Given the description of an element on the screen output the (x, y) to click on. 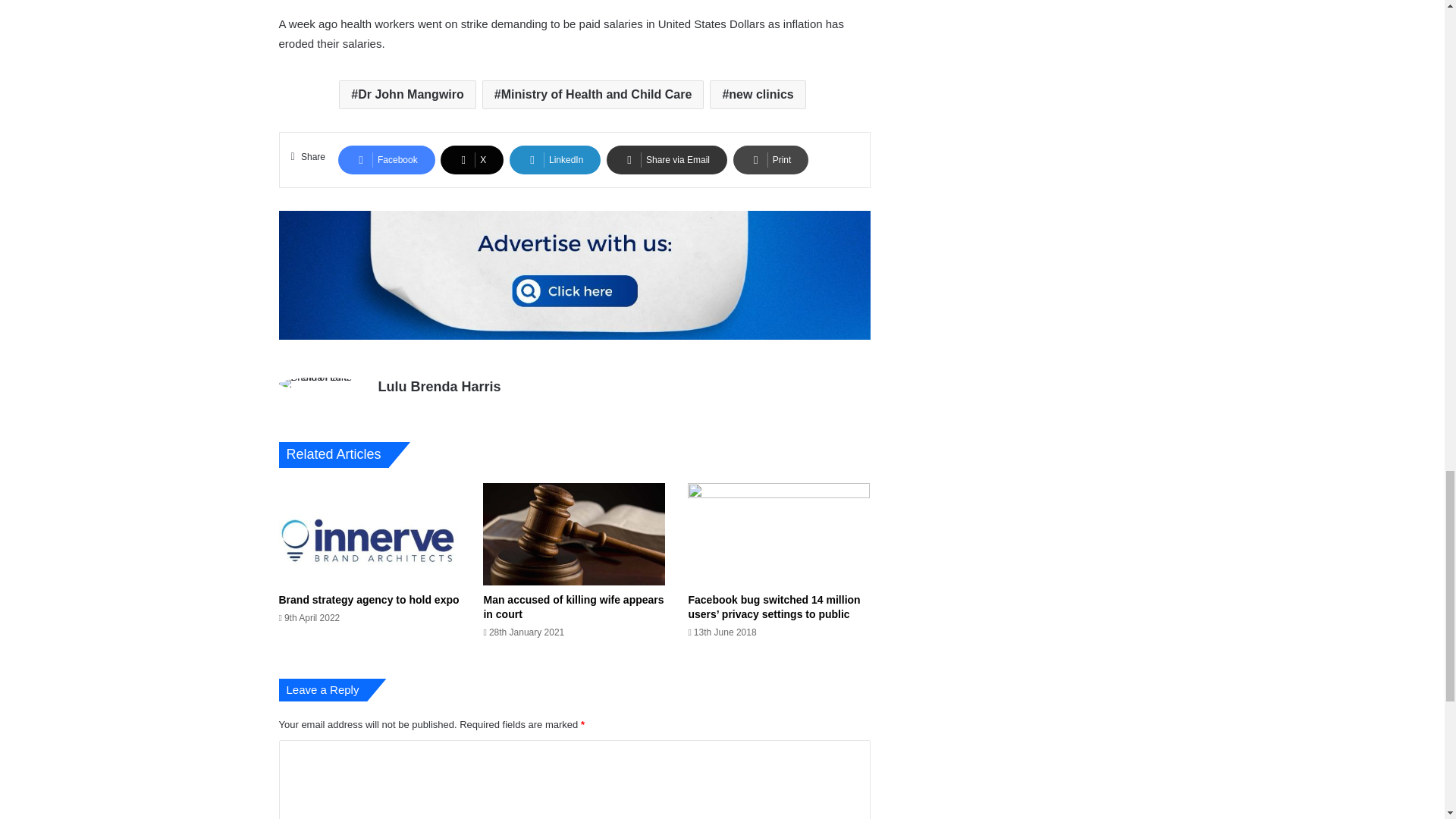
new clinics (757, 94)
Ministry of Health and Child Care (592, 94)
Facebook (386, 159)
Dr John Mangwiro (407, 94)
X (472, 159)
LinkedIn (554, 159)
